Given the description of an element on the screen output the (x, y) to click on. 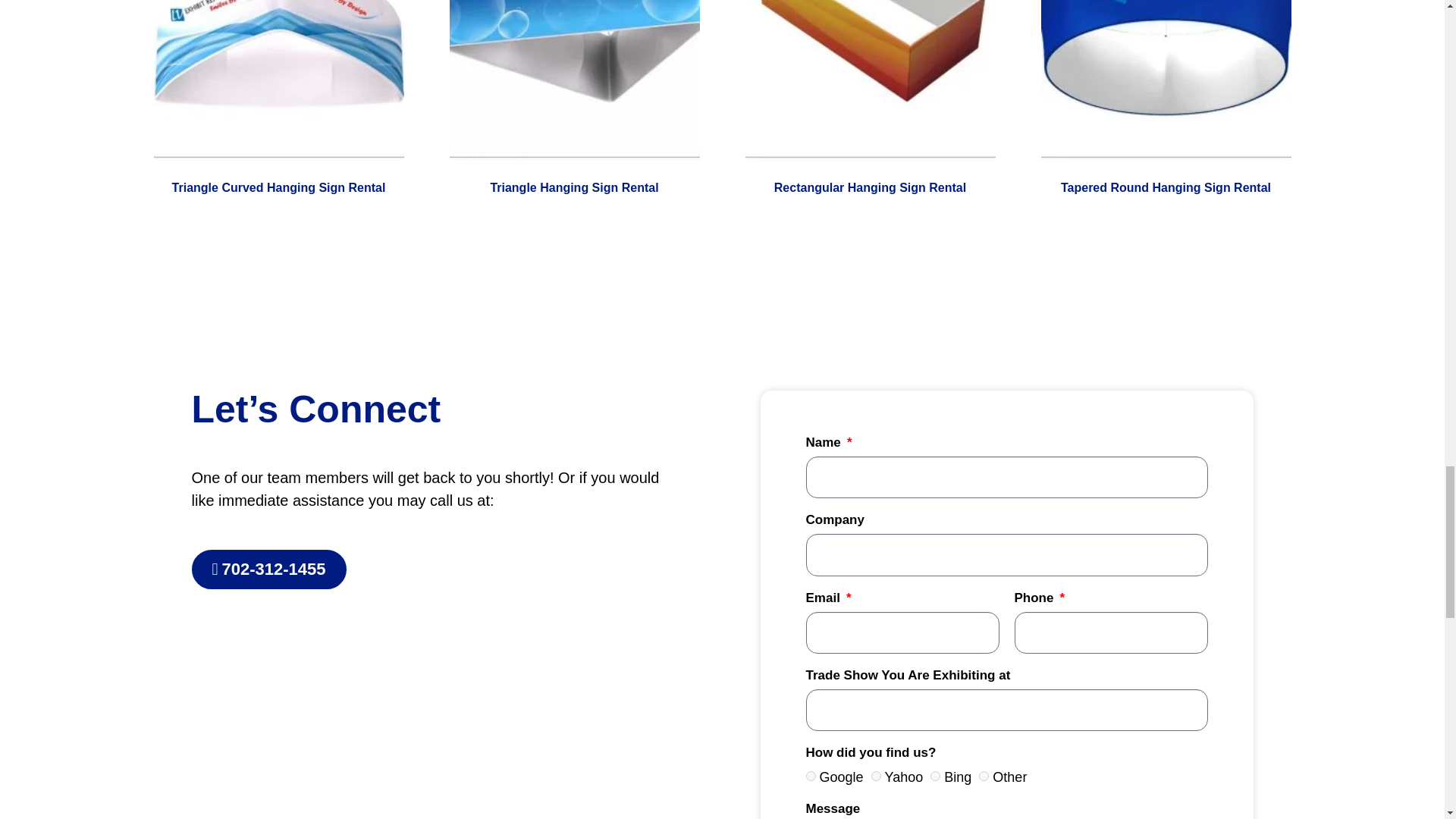
Bing (935, 776)
Yahoo (875, 776)
Other (983, 776)
Google (810, 776)
